Given the description of an element on the screen output the (x, y) to click on. 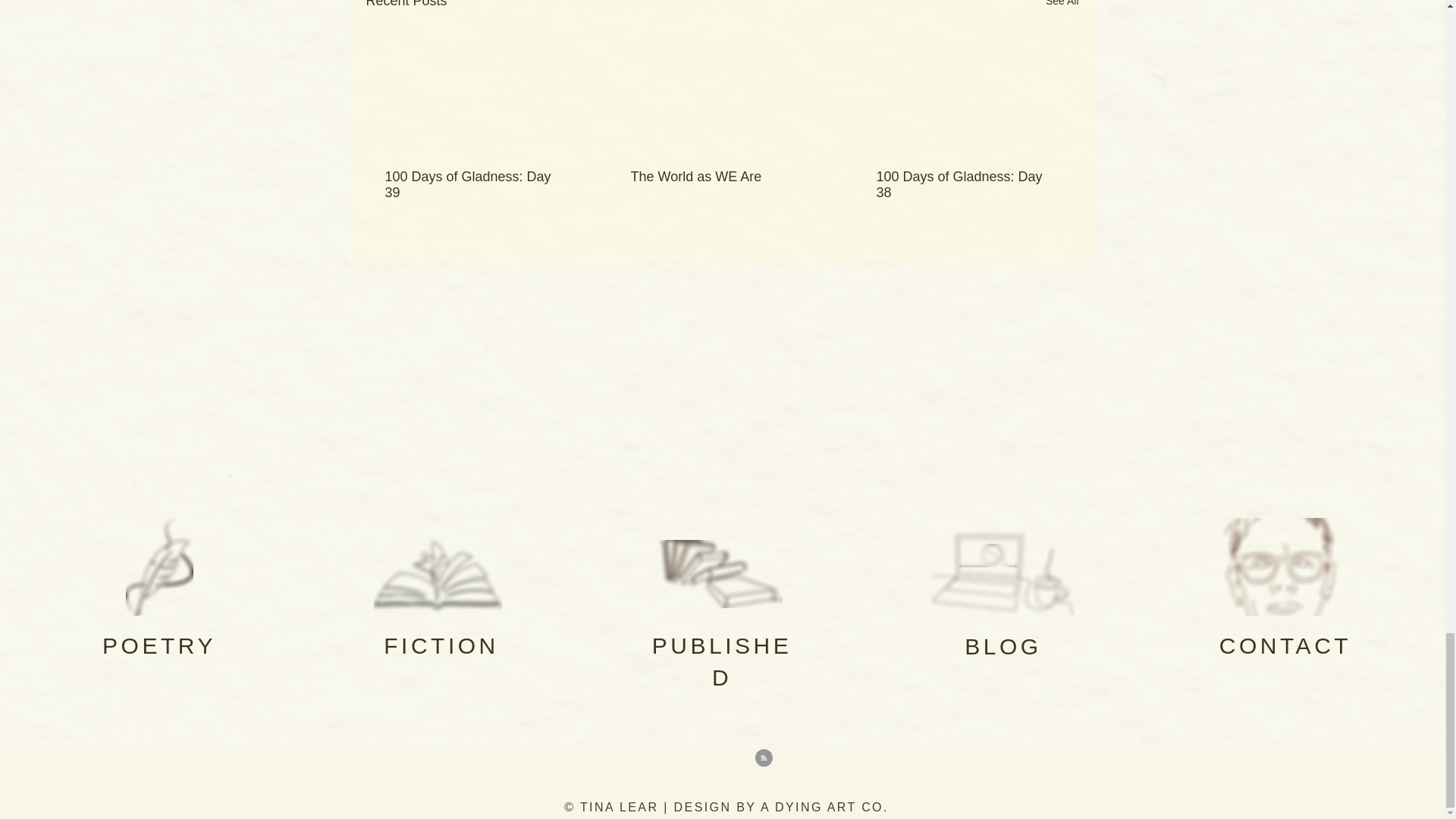
POETRY (158, 645)
The World as WE Are (721, 176)
FICTION (441, 645)
100 Days of Gladness: Day 38 (967, 184)
100 Days of Gladness: Day 39 (476, 184)
PUBLISHED (722, 661)
See All (1061, 6)
